Given the description of an element on the screen output the (x, y) to click on. 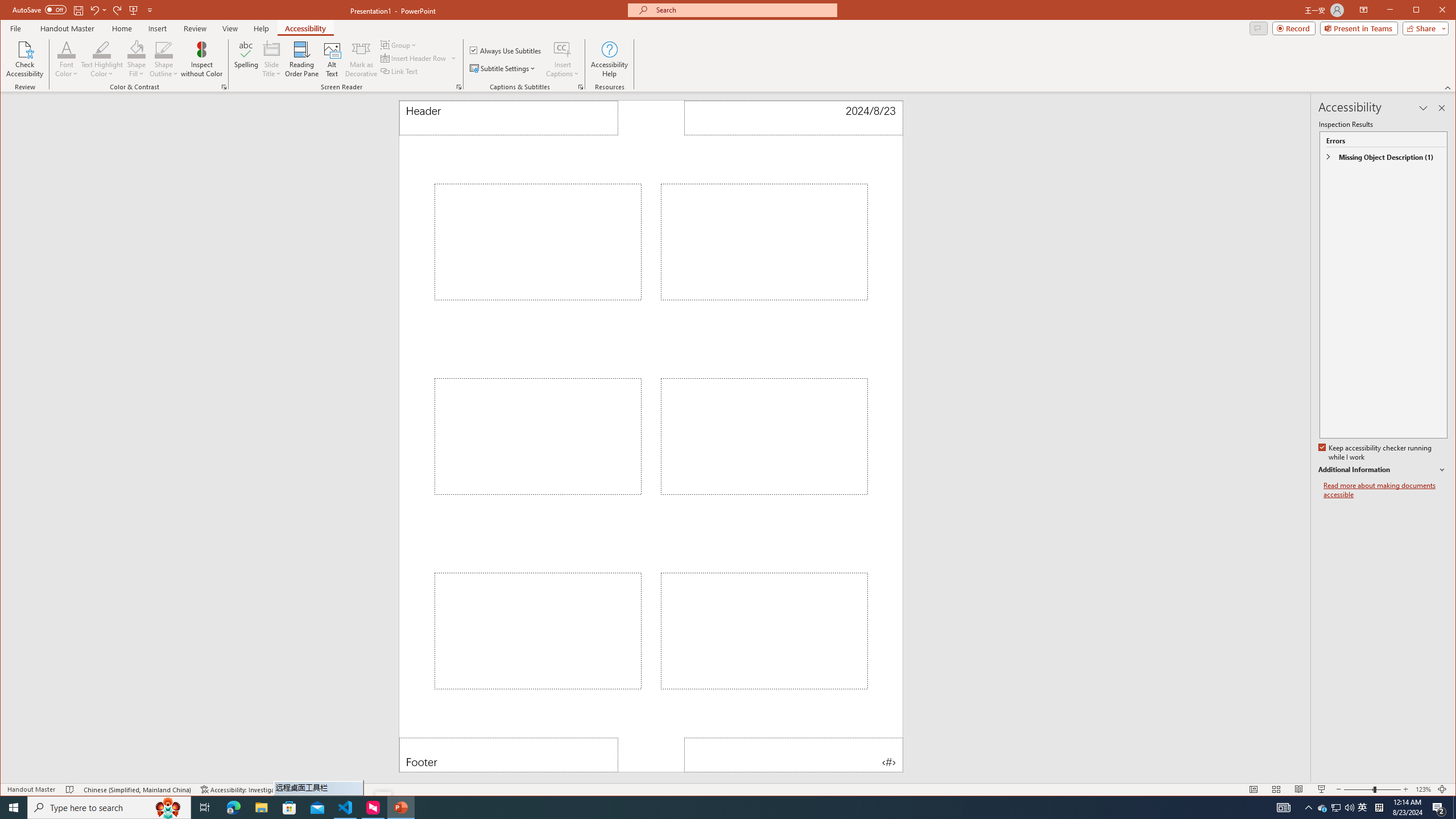
Alt Text (331, 59)
Shape Outline Blue, Accent 1 (163, 48)
Insert Header Row (413, 57)
Additional Information (1382, 469)
Spelling... (246, 59)
Keep accessibility checker running while I work (1375, 452)
